Given the description of an element on the screen output the (x, y) to click on. 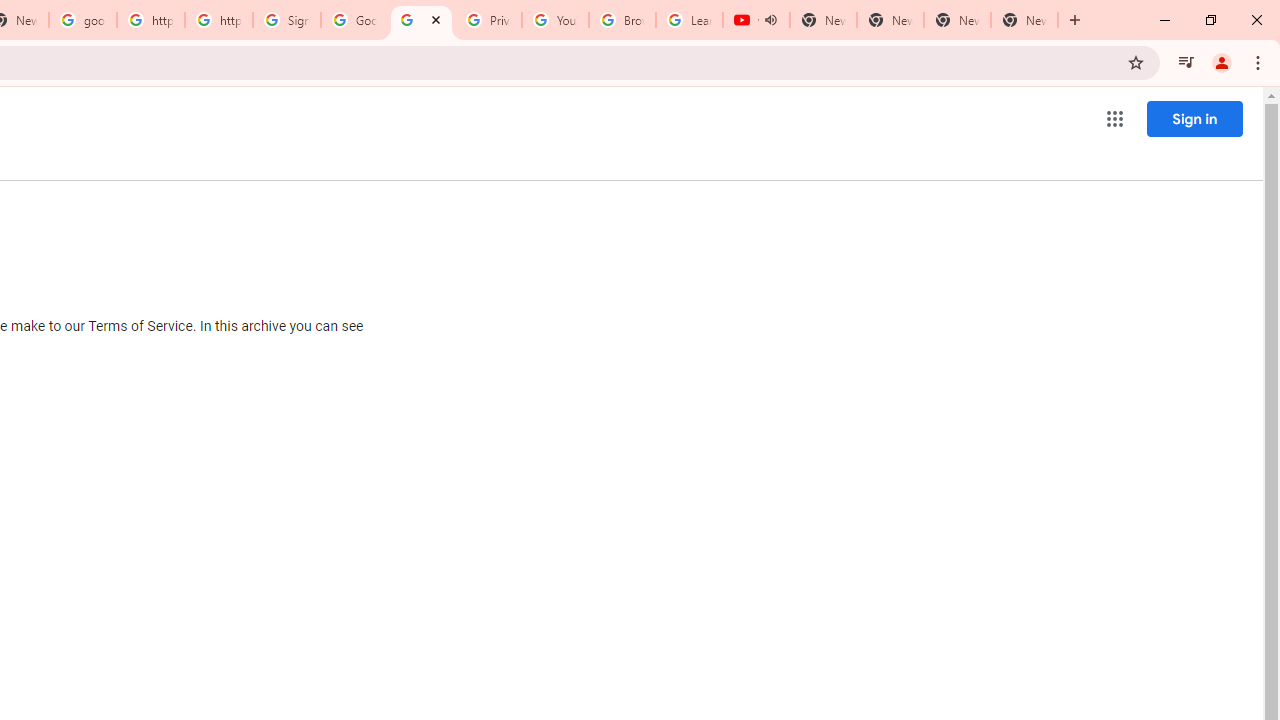
https://scholar.google.com/ (150, 20)
Sign in - Google Accounts (287, 20)
https://scholar.google.com/ (219, 20)
New Tab (1024, 20)
YouTube (555, 20)
